Given the description of an element on the screen output the (x, y) to click on. 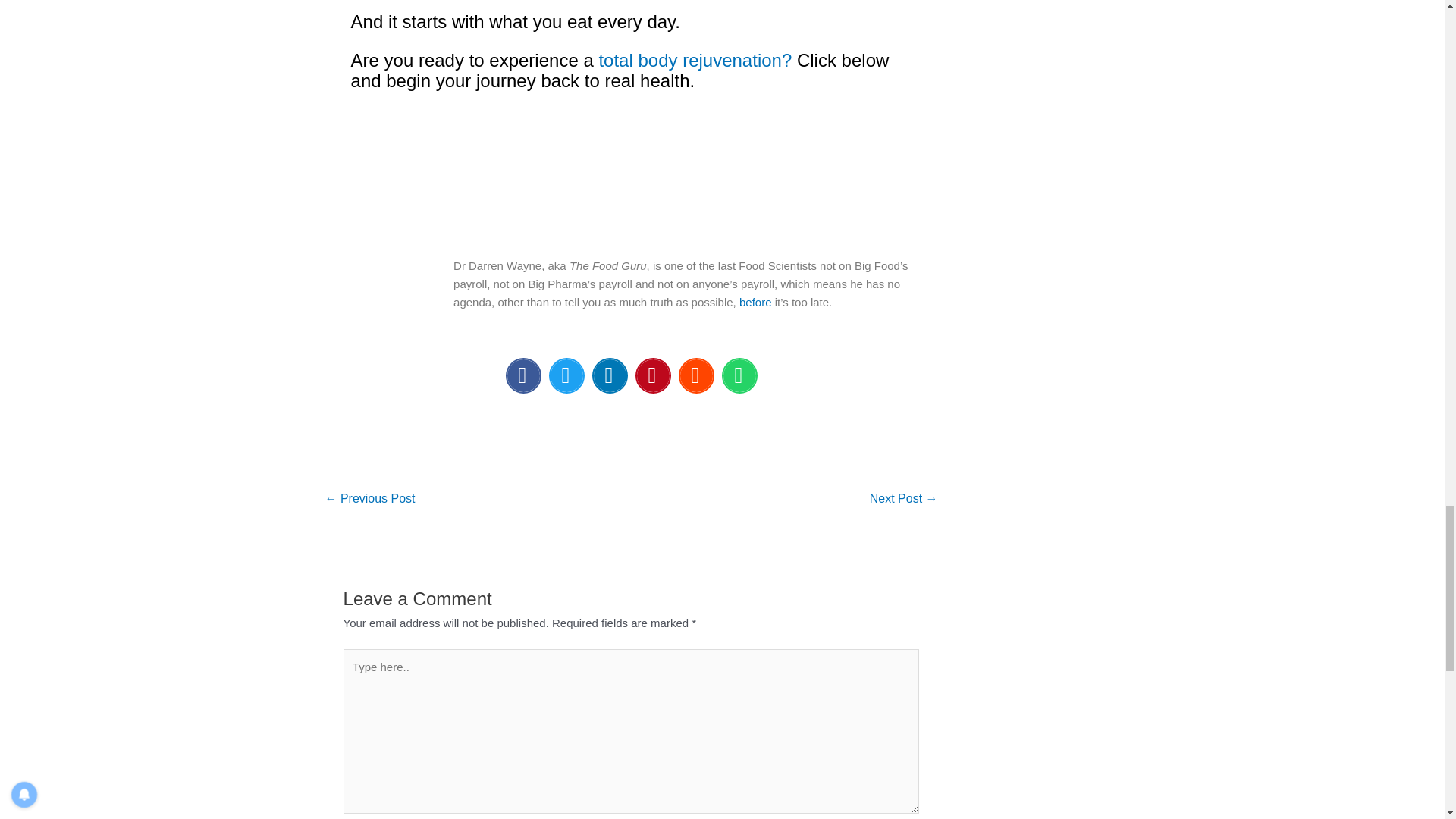
total body rejuvenation? (695, 59)
The MealBetix Lifestyle (631, 174)
before (755, 301)
total body rejuvenation? (695, 59)
